Given the description of an element on the screen output the (x, y) to click on. 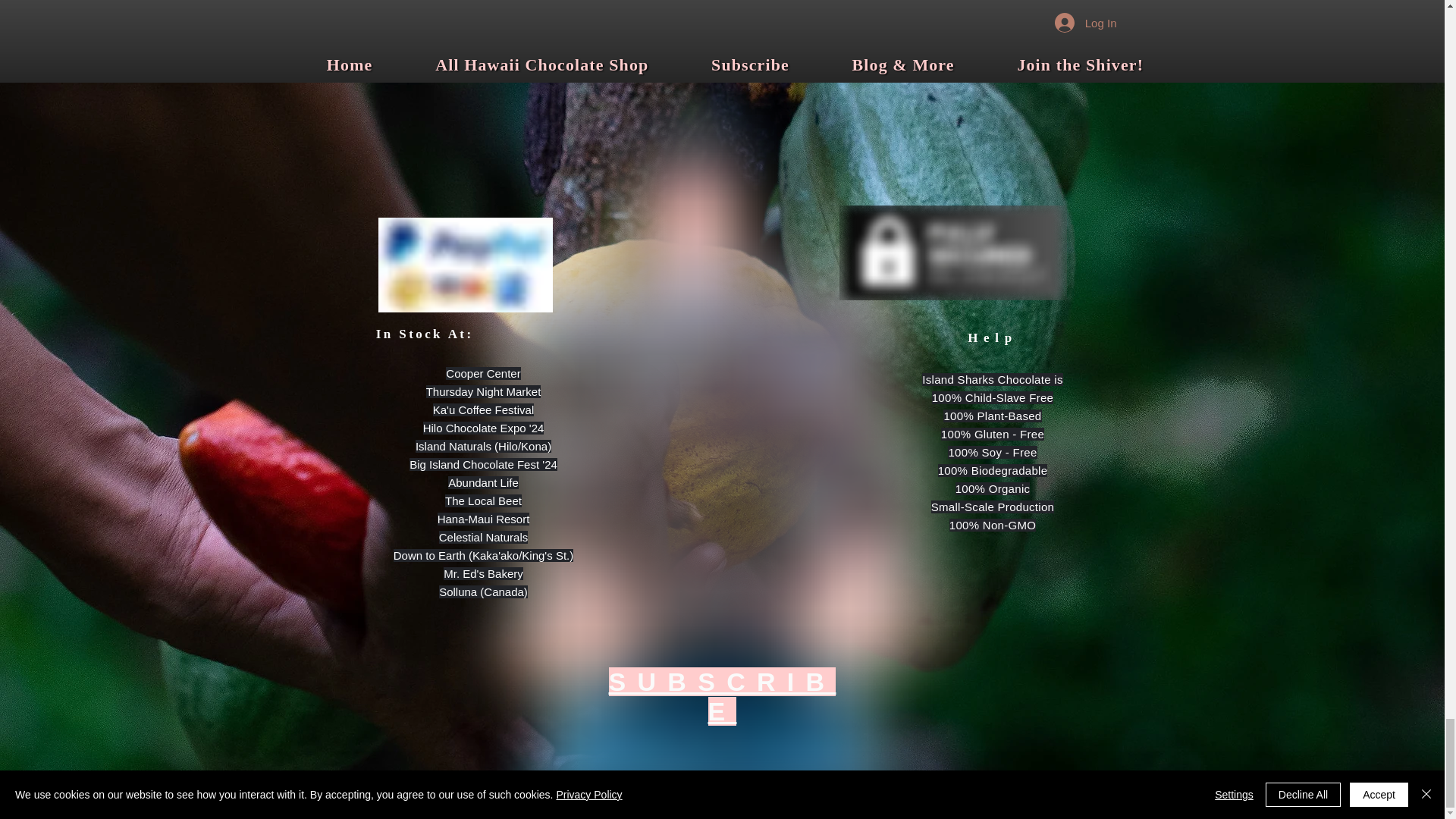
Shop (722, 18)
